Given the description of an element on the screen output the (x, y) to click on. 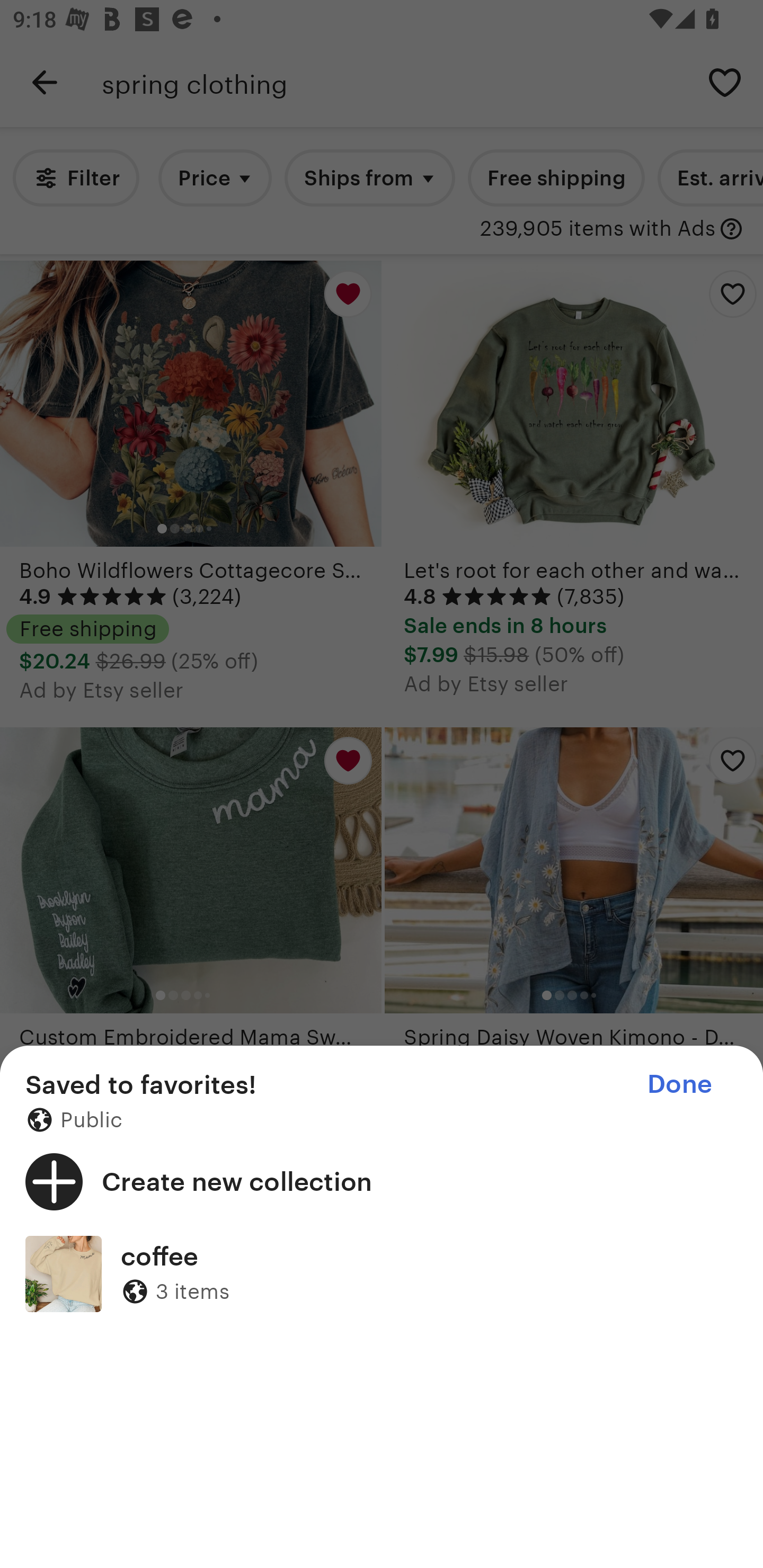
Done (679, 1083)
Create new collection (381, 1181)
coffee 3 items (381, 1273)
